Given the description of an element on the screen output the (x, y) to click on. 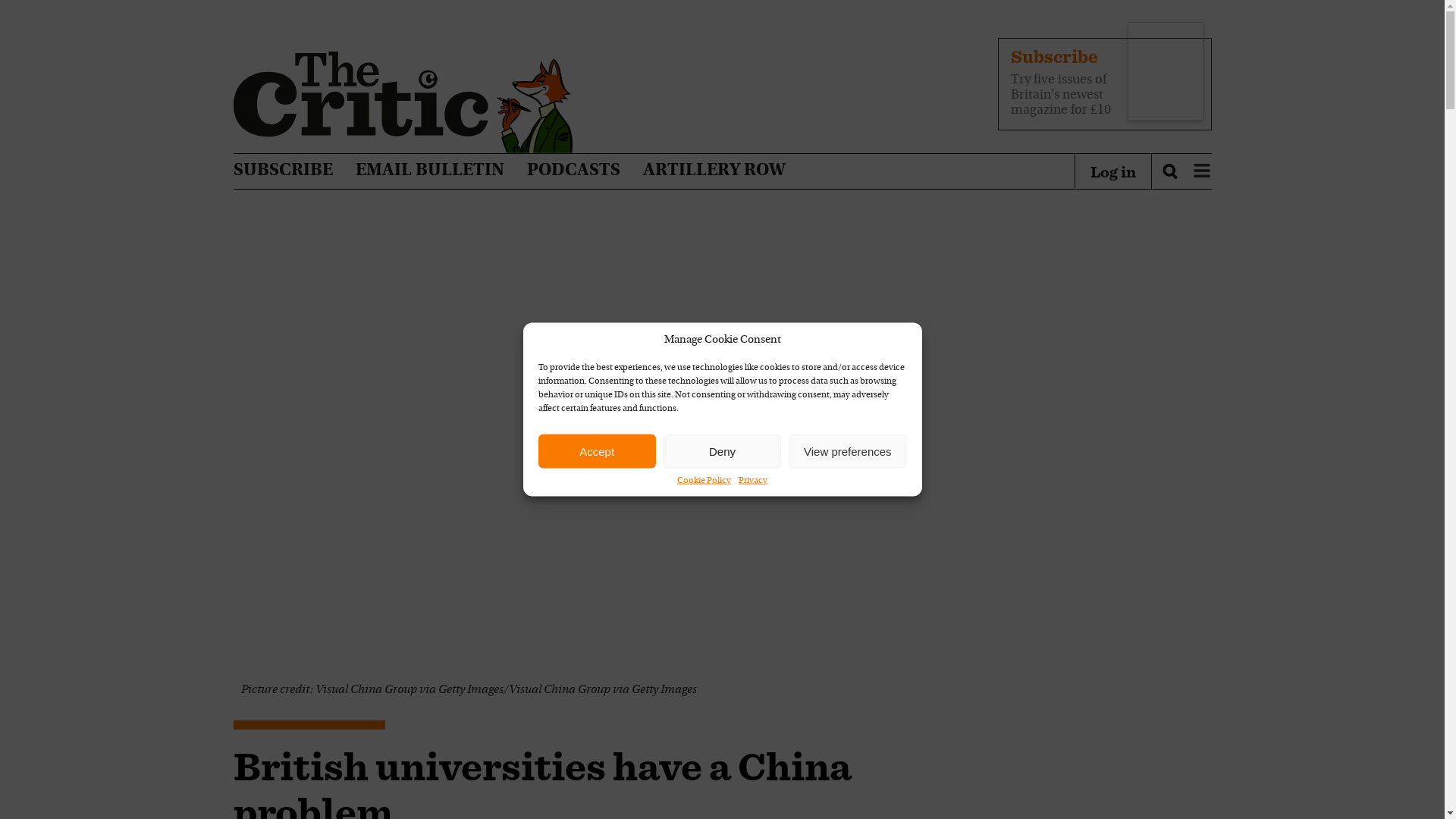
SUBSCRIBE (282, 171)
Cookie Policy (703, 480)
Log in (1112, 171)
Accept (597, 450)
PODCASTS (572, 171)
Deny (721, 450)
View preferences (847, 450)
EMAIL BULLETIN (429, 171)
ARTILLERY ROW (714, 171)
Privacy (752, 480)
